Given the description of an element on the screen output the (x, y) to click on. 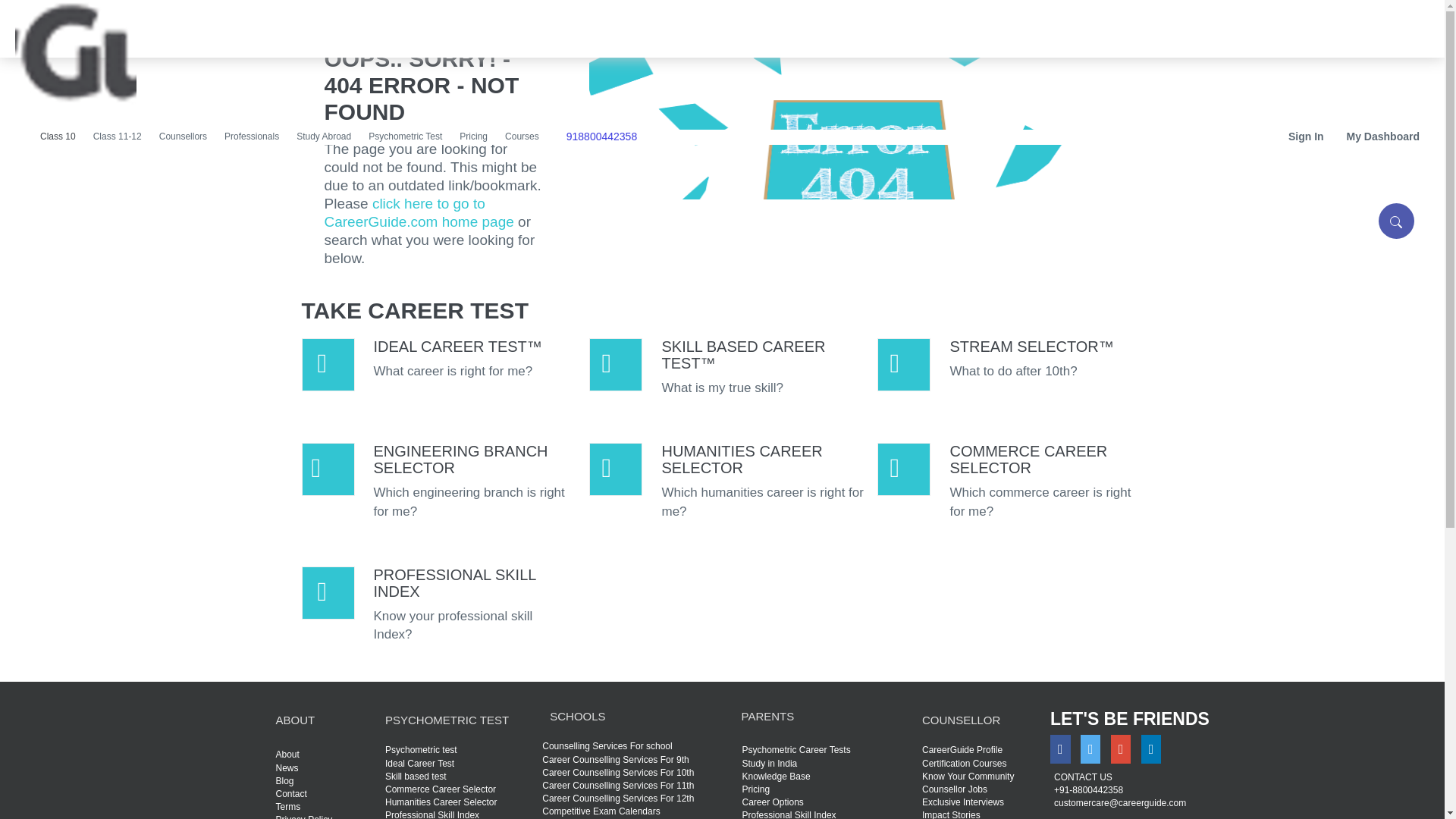
Contact (291, 793)
Courses (522, 136)
Pricing (474, 136)
Terms and Conditions (288, 806)
Class 11-12 (118, 136)
Blog (285, 780)
Psychometric Test (406, 136)
Professionals (252, 136)
Counsellors (183, 136)
Study Abroad (324, 136)
